Given the description of an element on the screen output the (x, y) to click on. 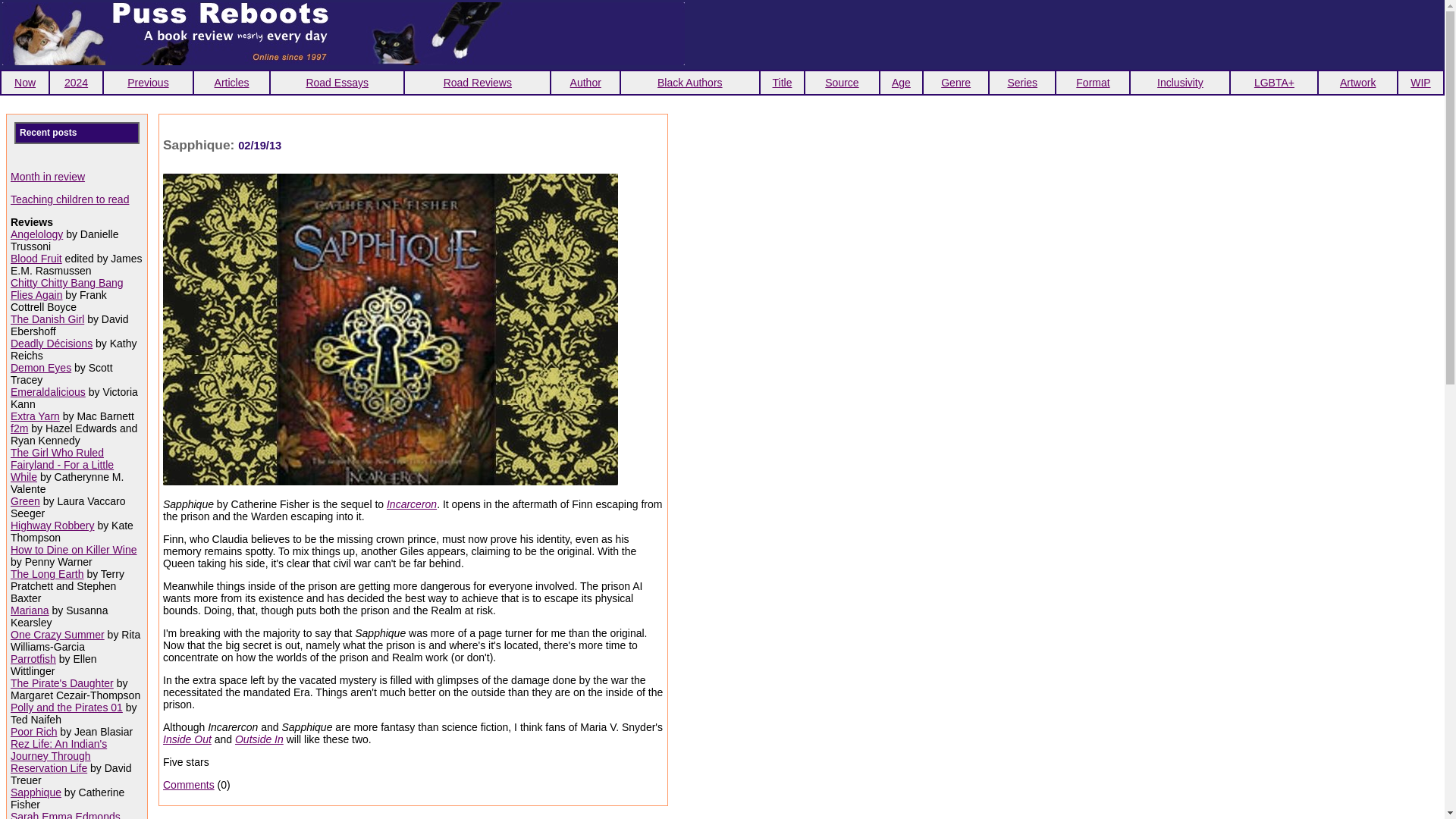
Genre (955, 82)
Teaching children to read (69, 199)
Highway Robbery (52, 525)
The Pirate's Daughter (61, 683)
Now (24, 82)
Age (901, 82)
Month in review (47, 176)
f2m (18, 428)
Blood Fruit (36, 258)
The Danish Girl (47, 318)
Angelology (36, 234)
Previous (148, 82)
Series (1021, 82)
The Long Earth (47, 573)
Polly and the Pirates 01 (66, 707)
